Given the description of an element on the screen output the (x, y) to click on. 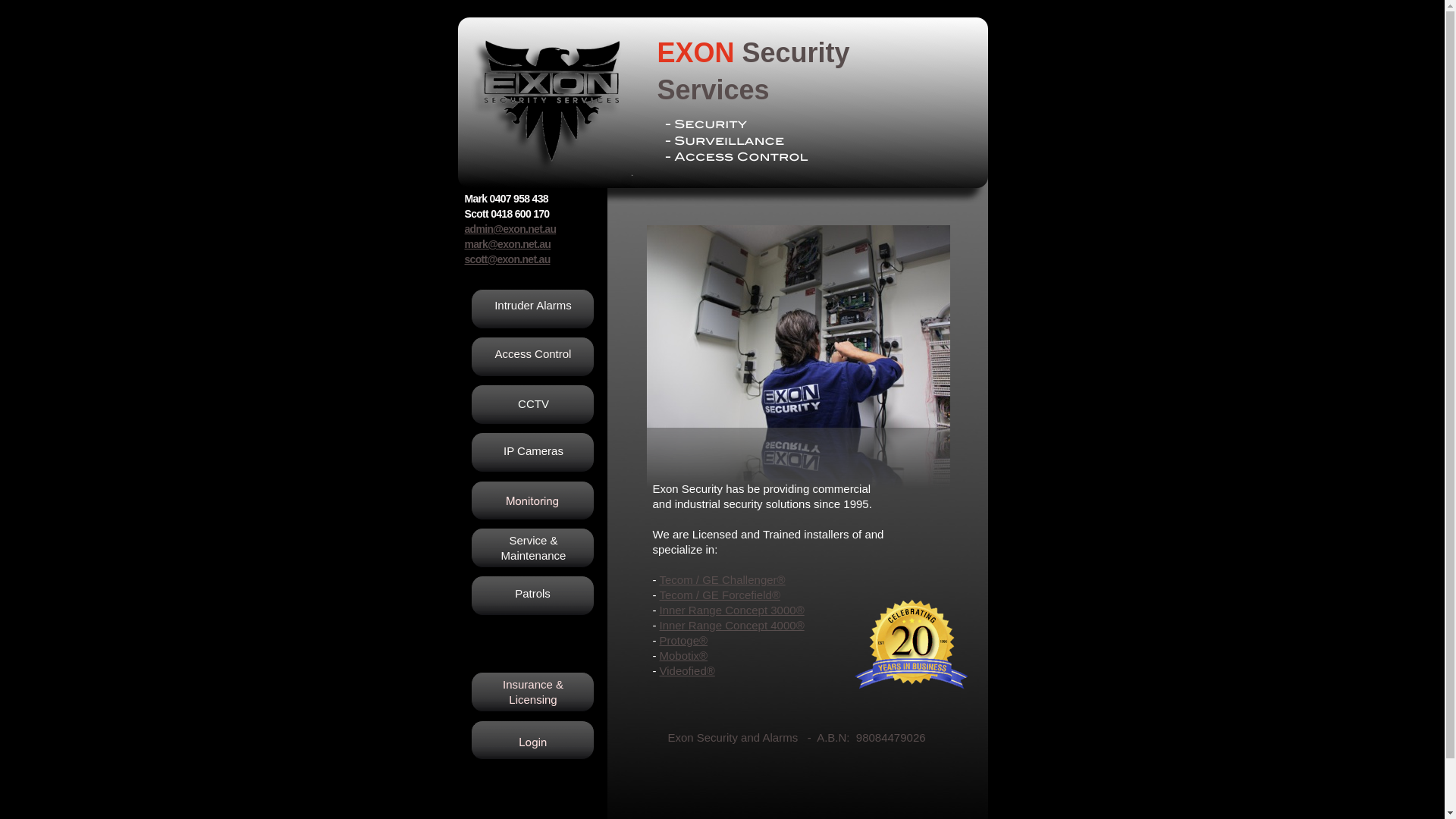
admin@exon.net.au Element type: text (509, 228)
mark@exon.net.au Element type: text (507, 244)
scott@exon.net.au Element type: text (506, 259)
